Given the description of an element on the screen output the (x, y) to click on. 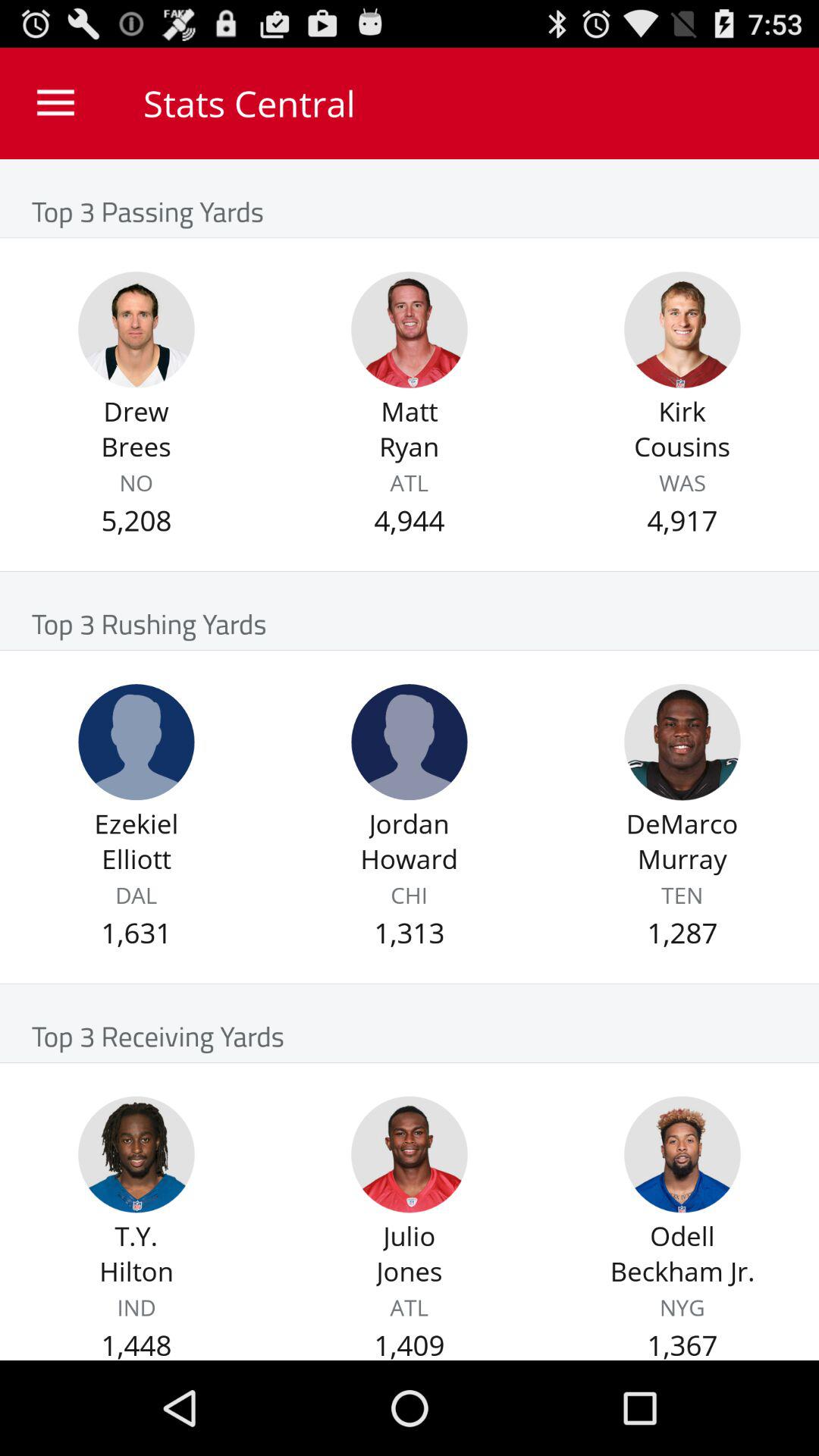
view player details t.y hilton (136, 1154)
